Given the description of an element on the screen output the (x, y) to click on. 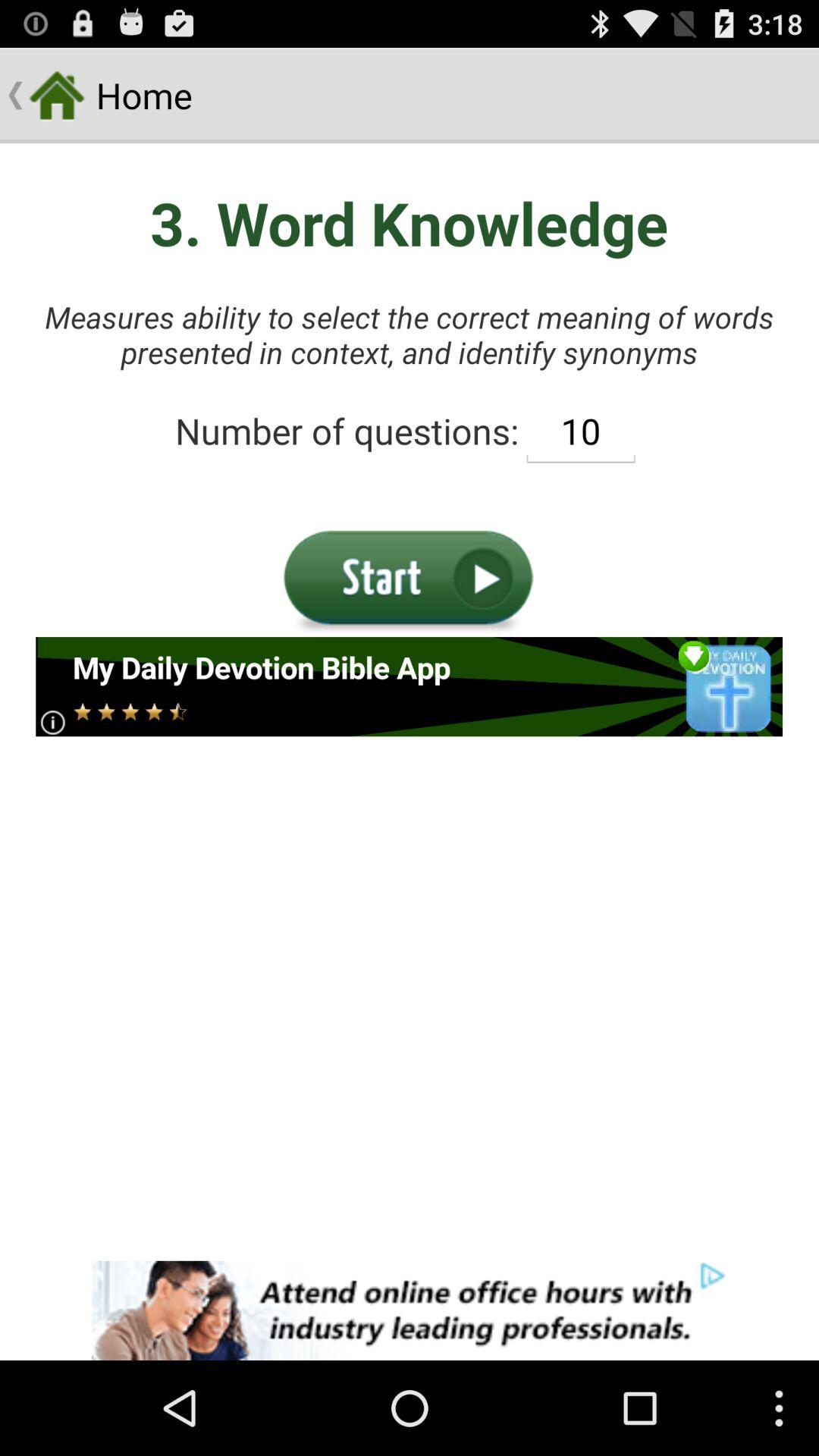
advertisement (408, 686)
